Given the description of an element on the screen output the (x, y) to click on. 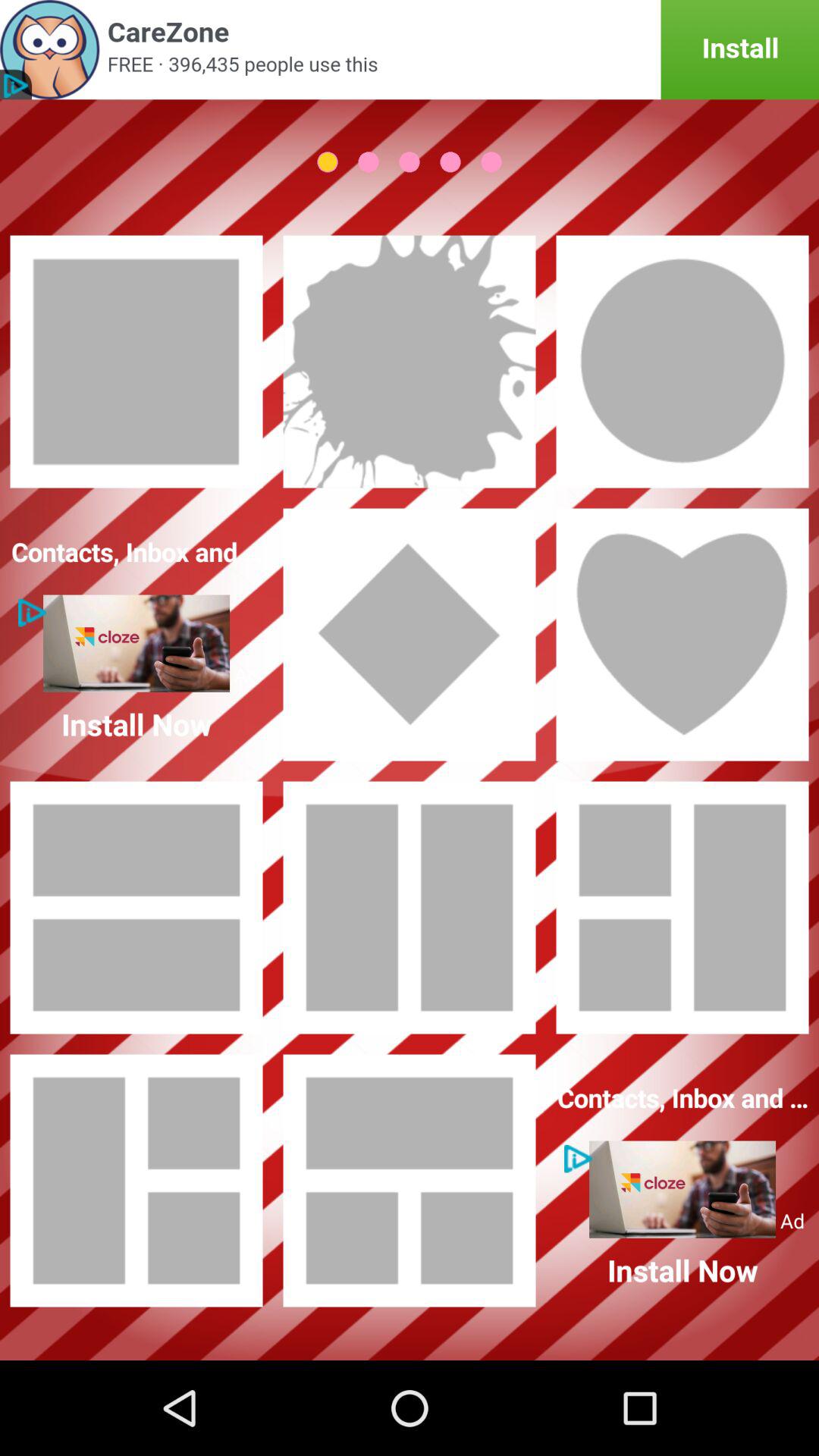
choose diamond layout (409, 634)
